Given the description of an element on the screen output the (x, y) to click on. 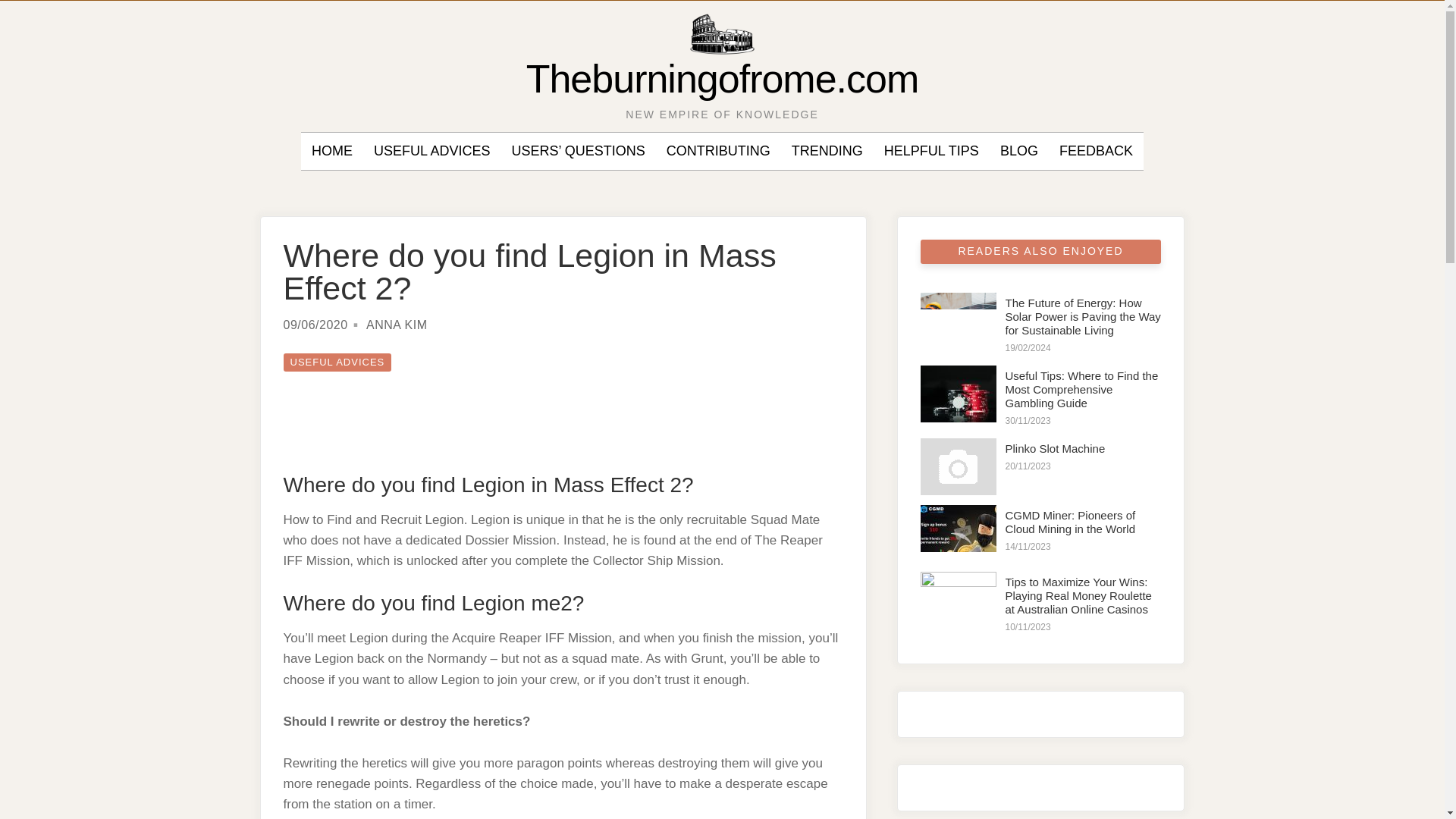
Plinko Slot Machine (1055, 448)
USEFUL ADVICES (337, 361)
BLOG (1019, 151)
ANNA KIM (396, 324)
HOME (331, 151)
USEFUL ADVICES (431, 151)
CGMD Miner: Pioneers of Cloud Mining in the World (957, 533)
CGMD Miner: Pioneers of Cloud Mining in the World (1070, 521)
